Given the description of an element on the screen output the (x, y) to click on. 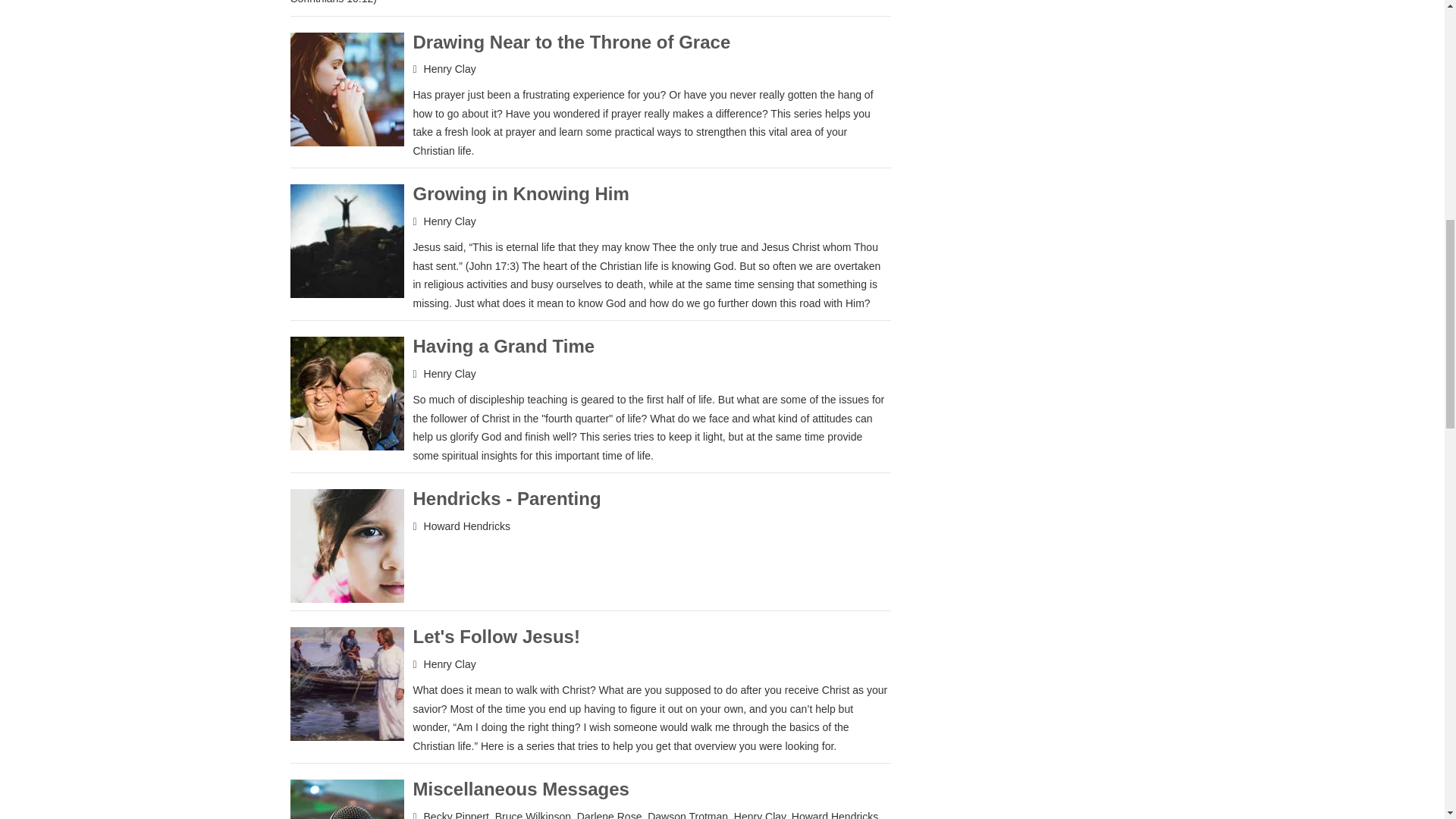
Having a Grand Time (503, 345)
Miscellaneous Messages (520, 788)
Henry Clay (449, 221)
Henry Clay (759, 814)
Howard Hendricks (467, 526)
Bruce Wilkinson (532, 814)
Drawing Near to the Throne of Grace (571, 41)
Let's Follow Jesus! (495, 636)
Dawson Trotman (687, 814)
Hendricks - Parenting (505, 498)
Darlene Rose (609, 814)
Growing in Knowing Him (520, 193)
Becky Pippert (456, 814)
Henry Clay (449, 664)
Henry Clay (449, 373)
